Given the description of an element on the screen output the (x, y) to click on. 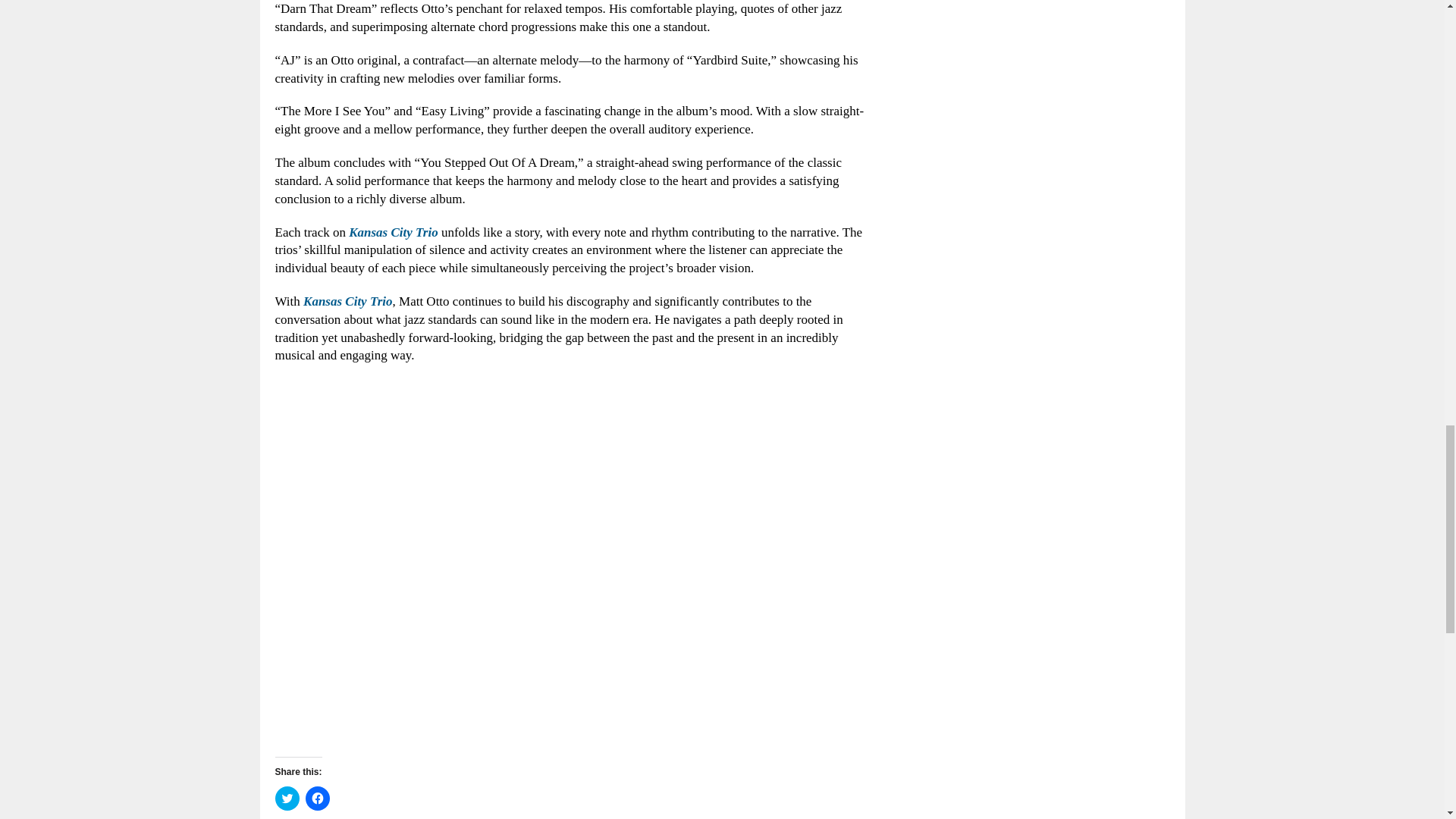
Kansas City Trio (346, 301)
Click to share on Twitter (286, 798)
Click to share on Facebook (316, 798)
Kansas City Trio (393, 232)
